Given the description of an element on the screen output the (x, y) to click on. 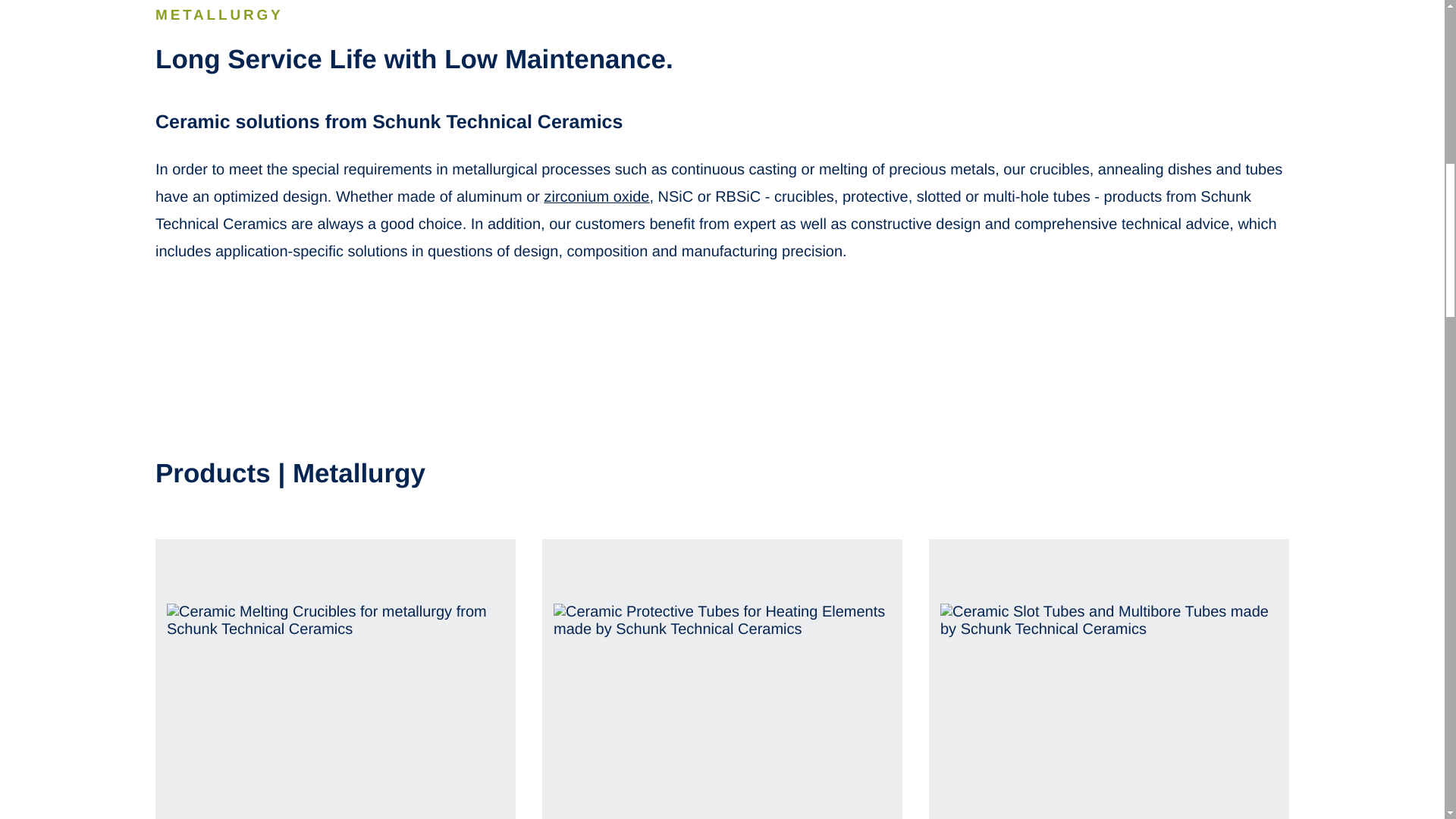
zirconium oxide (596, 197)
Ceramic Protective Tubes for Heating Elements (721, 678)
Ceramic Melting Crucibles for Metallurgy (335, 678)
Ceramic Slot Tubes and Multibore Tubes (1108, 678)
